Given the description of an element on the screen output the (x, y) to click on. 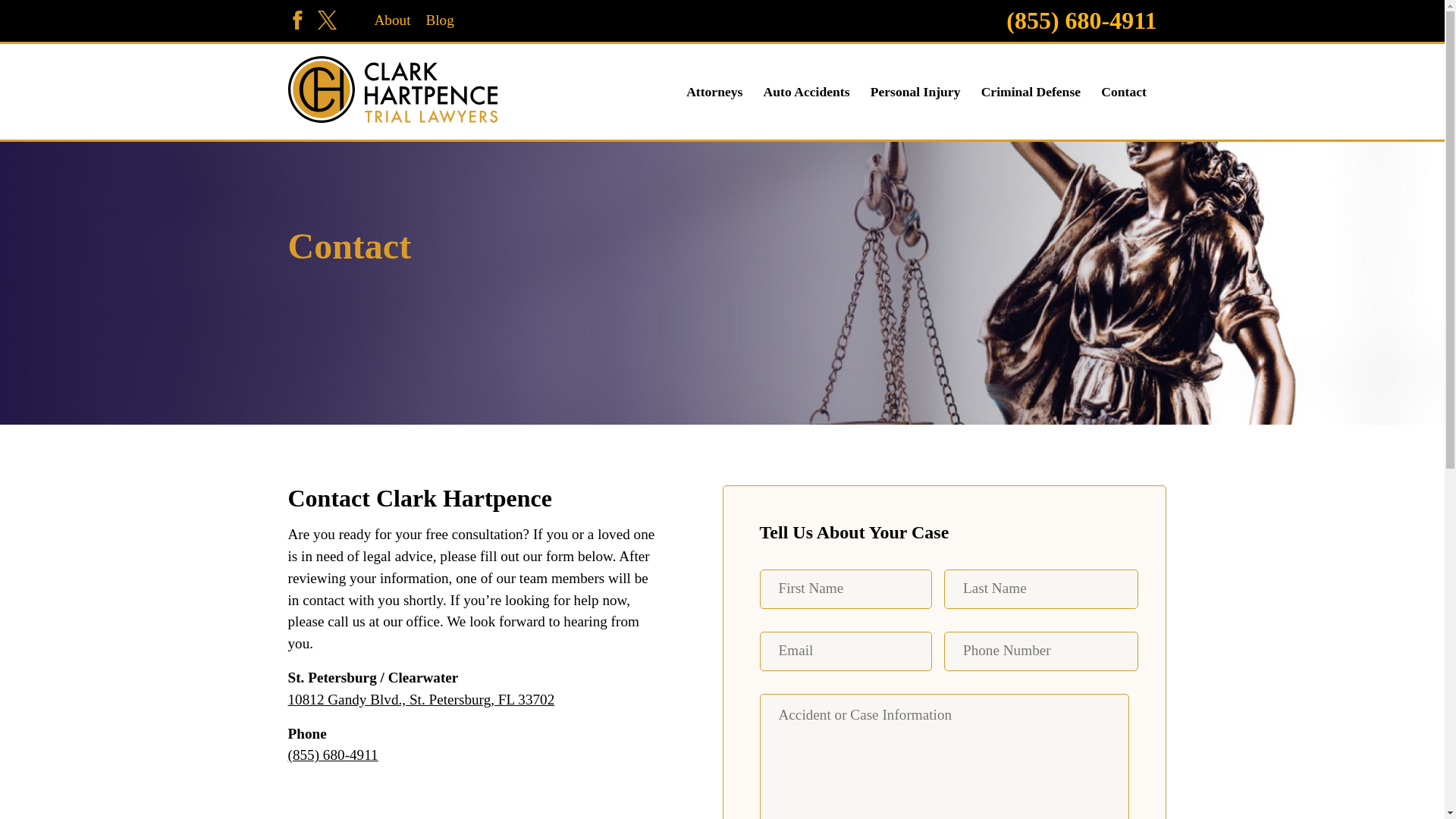
10812 Gandy Blvd., St. Petersburg, FL 33702 (421, 699)
Personal Injury (915, 91)
Blog (438, 19)
Contact (1123, 91)
Auto Accidents (806, 91)
Criminal Defense (1030, 91)
Attorneys (713, 91)
About (392, 19)
